Given the description of an element on the screen output the (x, y) to click on. 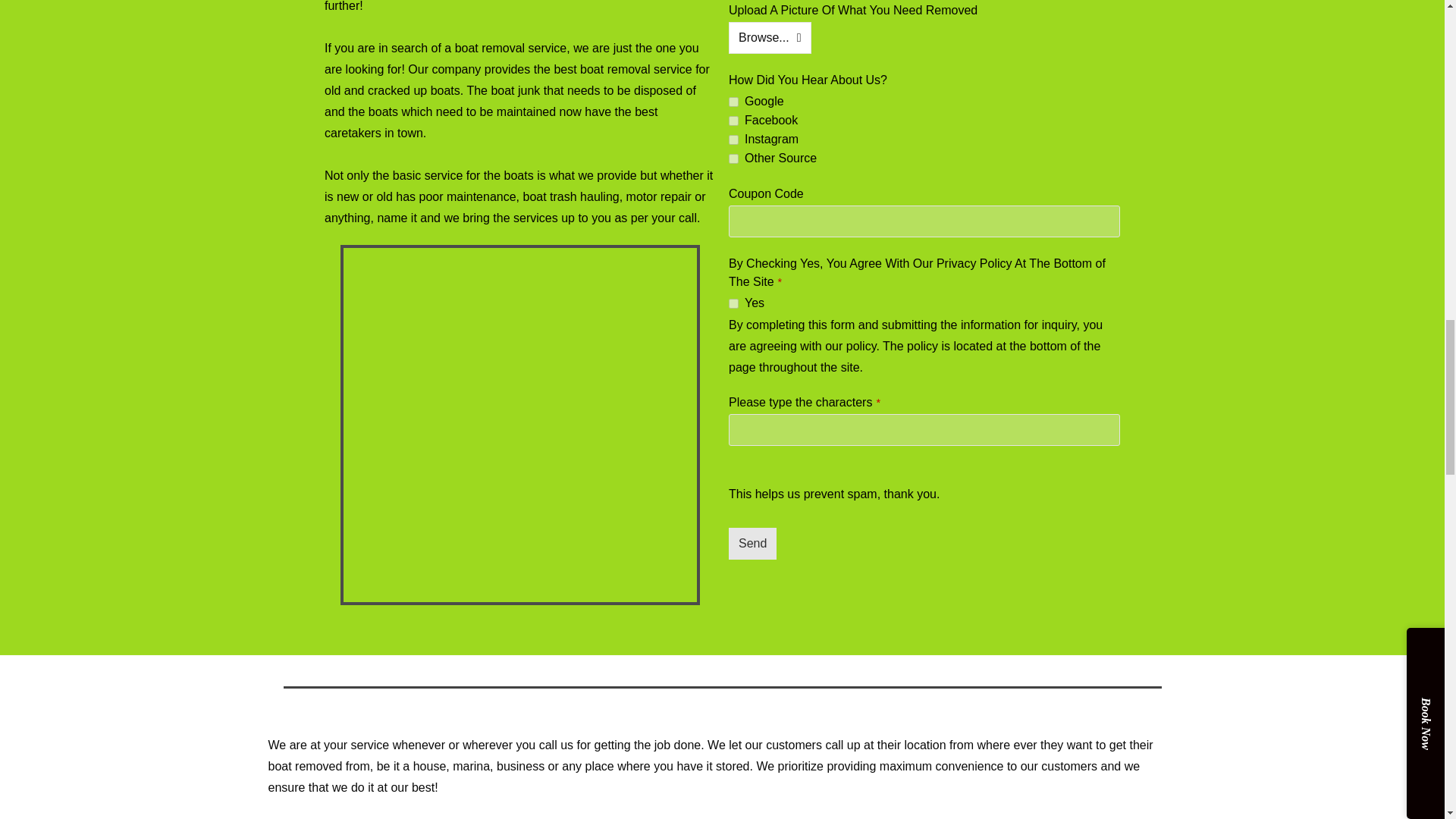
Facebook (733, 121)
Other Source (733, 158)
Yes (733, 303)
Instagram (733, 139)
Google (733, 102)
